Given the description of an element on the screen output the (x, y) to click on. 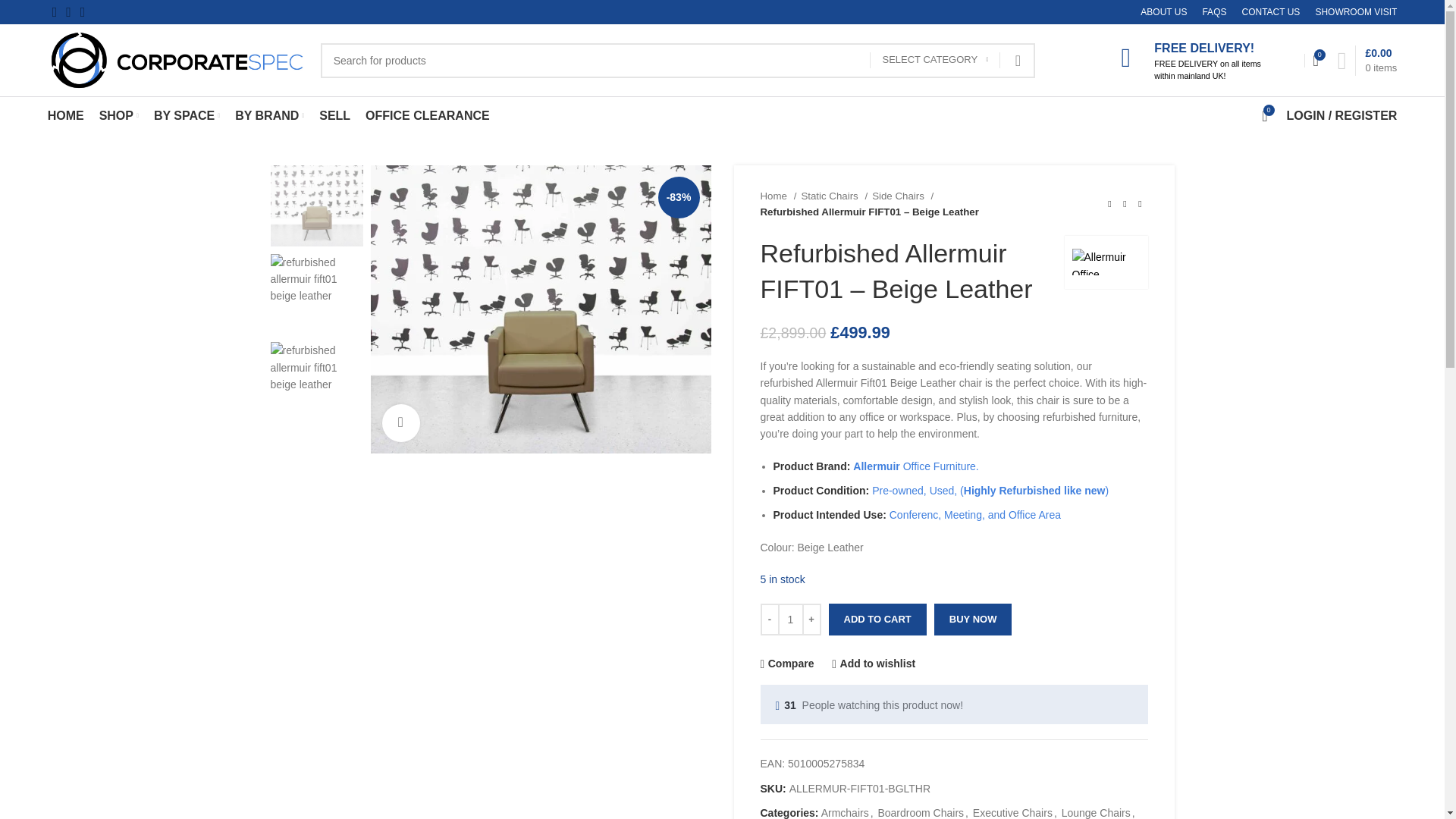
refurbished allermuir fift01 beige leather (539, 309)
FAQS (1213, 13)
SELECT CATEGORY (934, 60)
Shopping cart (1367, 60)
ABOUT US (1163, 13)
My account (1342, 115)
SHOWROOM VISIT (1355, 13)
CONTACT US (1270, 13)
Allermuir Office Furniture (1105, 261)
Search for products (677, 59)
